Given the description of an element on the screen output the (x, y) to click on. 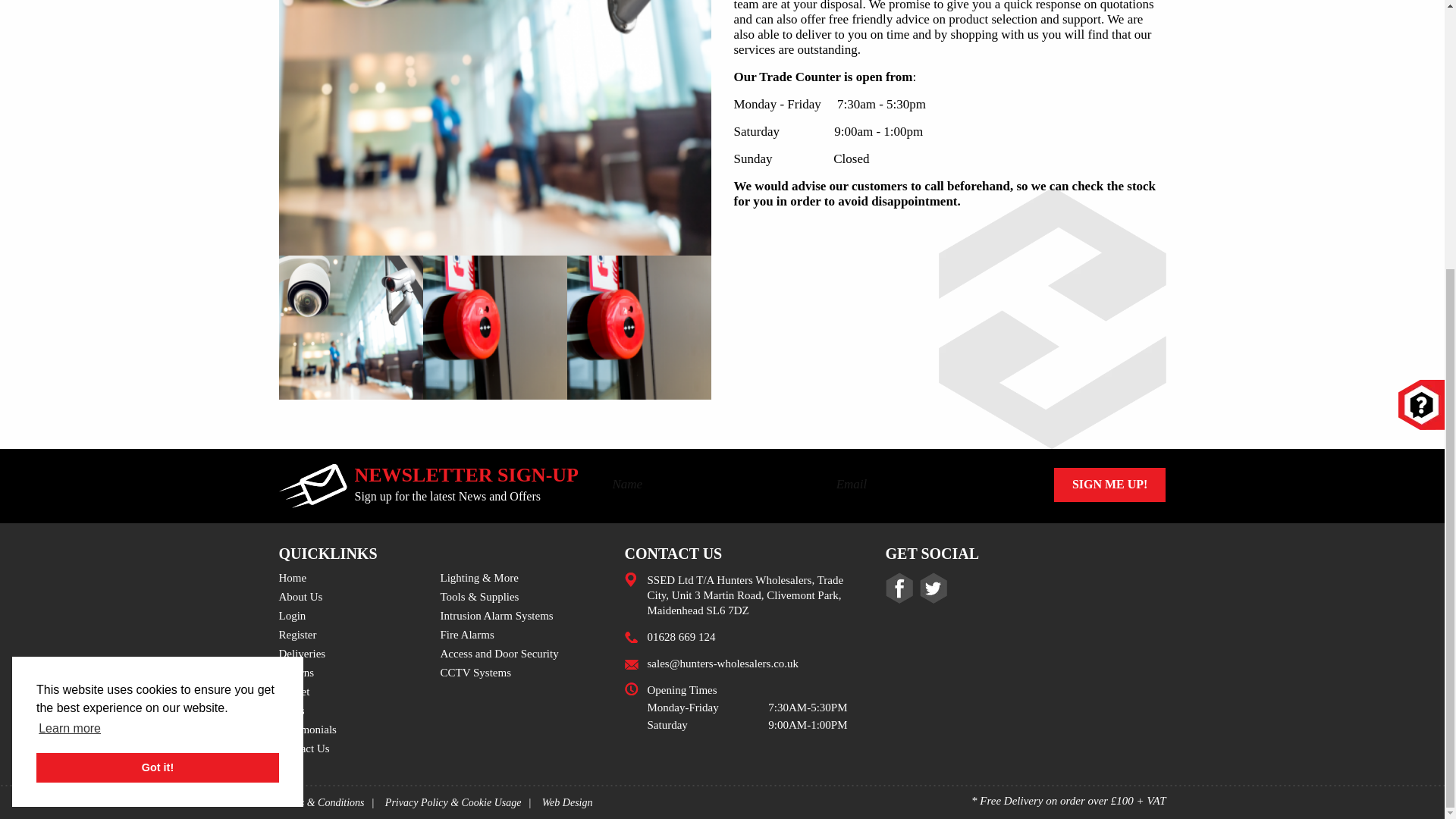
Got it! (157, 375)
Learn more (69, 336)
